Given the description of an element on the screen output the (x, y) to click on. 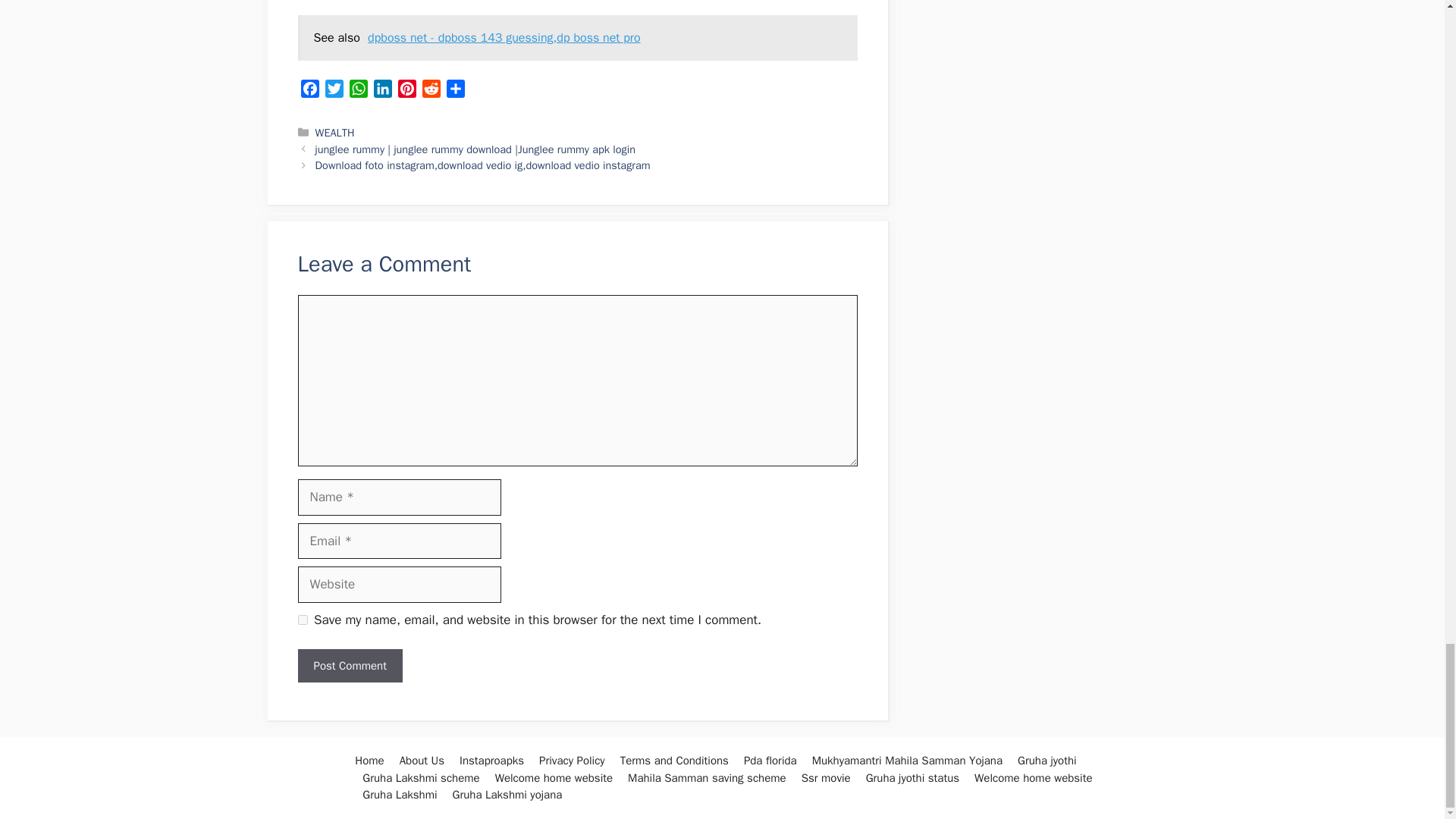
Pinterest (406, 91)
Twitter (333, 91)
Facebook (309, 91)
WhatsApp (357, 91)
LinkedIn (381, 91)
Reddit (430, 91)
Reddit (430, 91)
yes (302, 619)
LinkedIn (381, 91)
Post Comment (349, 666)
